Given the description of an element on the screen output the (x, y) to click on. 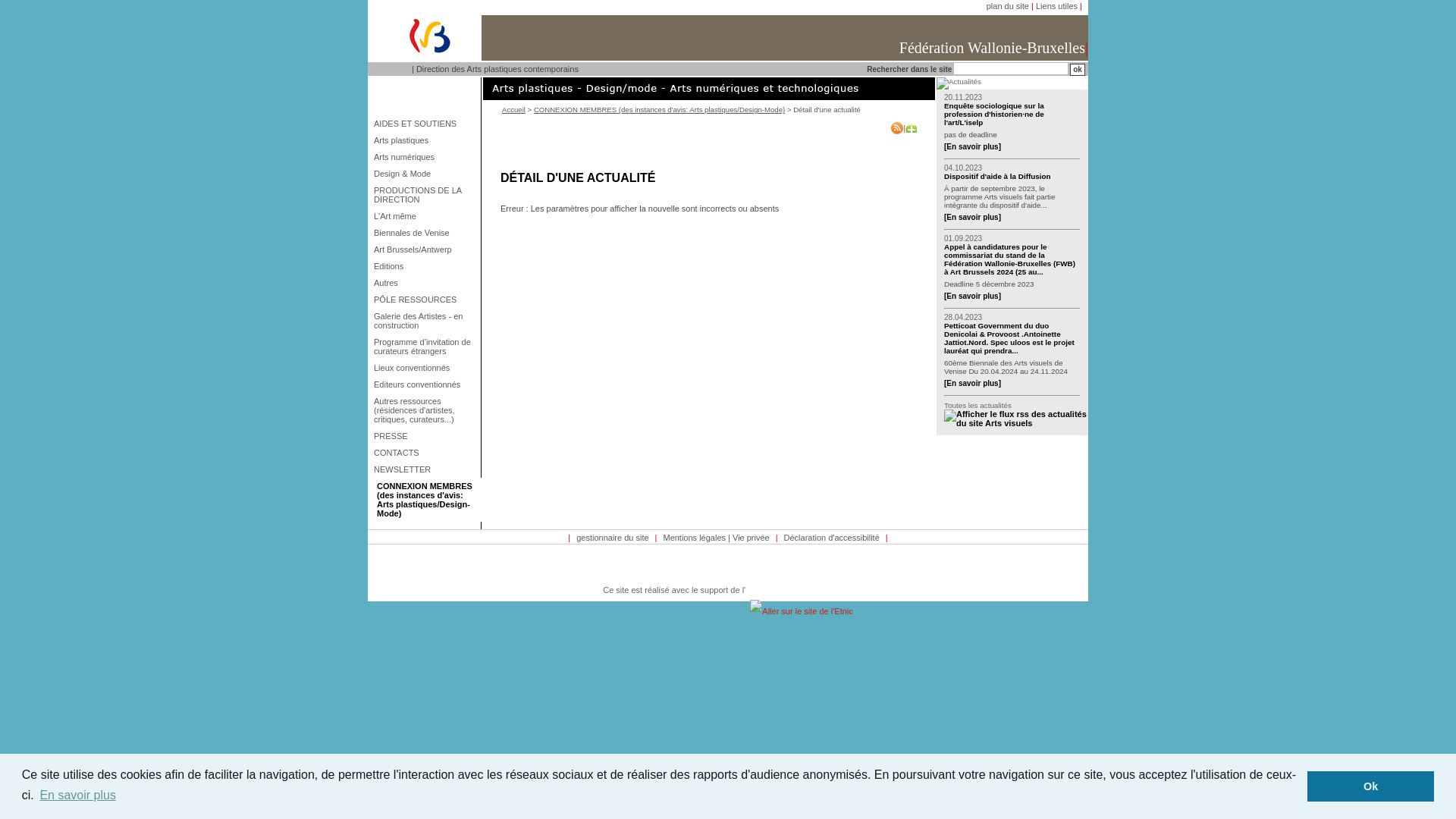
NEWSLETTER Element type: text (424, 468)
[En savoir plus] Element type: text (972, 217)
Art Brussels/Antwerp Element type: text (424, 249)
plan du site Element type: text (1007, 5)
Arts plastiques Element type: text (424, 139)
Plus de choix Element type: hover (910, 127)
  Element type: text (1016, 413)
ok Element type: text (1077, 69)
Liens utiles Element type: text (1056, 5)
[En savoir plus] Element type: text (972, 383)
[En savoir plus] Element type: text (972, 295)
[En savoir plus] Element type: text (972, 146)
Aller sur le site de l'Etnic Element type: hover (800, 610)
rechercher Element type: hover (1077, 69)
Galerie des Artistes - en construction Element type: text (424, 320)
Editions Element type: text (424, 265)
PRODUCTIONS DE LA DIRECTION Element type: text (424, 194)
pas de deadline Element type: text (1012, 134)
Biennales de Venise Element type: text (424, 232)
Accueil Element type: text (513, 109)
En savoir plus Element type: text (77, 795)
CONTACTS Element type: text (424, 452)
gestionnaire du site Element type: text (612, 537)
AIDES ET SOUTIENS Element type: text (424, 123)
Autres Element type: text (424, 282)
Ok Element type: text (1370, 786)
Design & Mode Element type: text (424, 173)
fils RSS Element type: hover (1016, 418)
PRESSE Element type: text (424, 435)
